Given the description of an element on the screen output the (x, y) to click on. 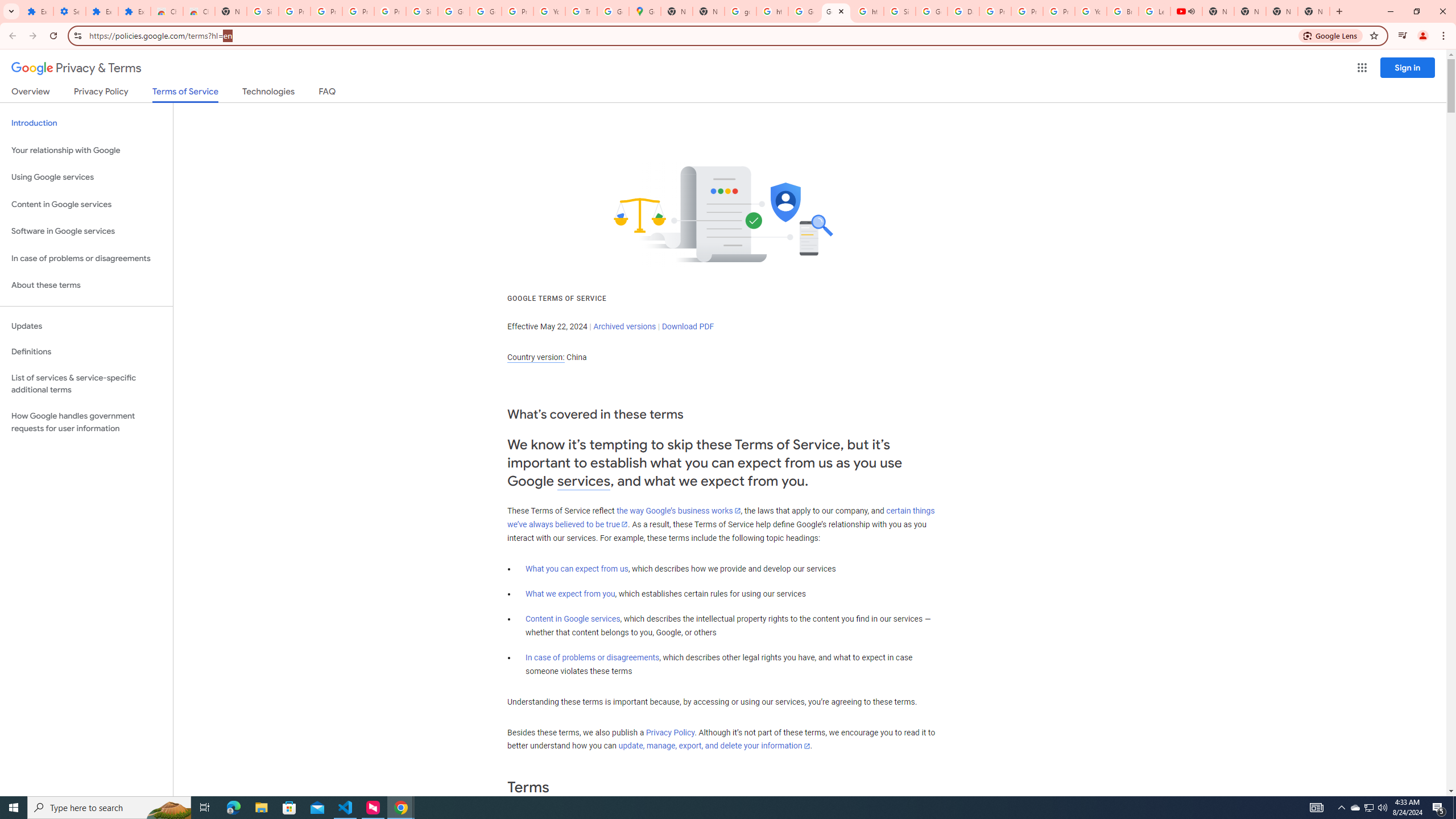
YouTube (1091, 11)
